Given the description of an element on the screen output the (x, y) to click on. 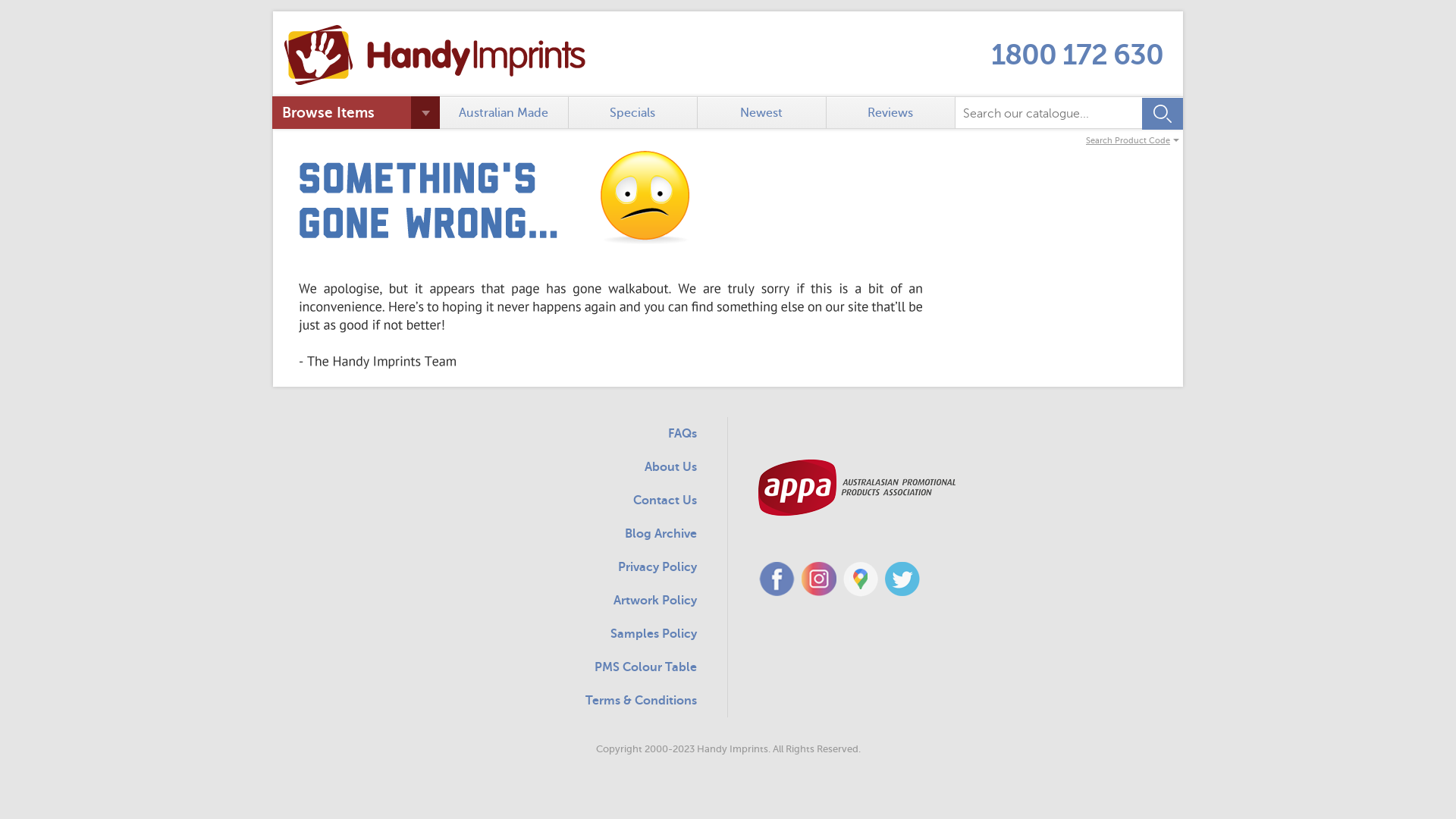
FAQs Element type: text (682, 433)
Blog Archive Element type: text (660, 533)
Terms & Conditions Element type: text (640, 700)
Samples Policy Element type: text (653, 633)
Newest Element type: text (761, 112)
Specials Element type: text (632, 112)
Artwork Policy Element type: text (654, 600)
Australian Made Element type: text (503, 112)
PMS Colour Table Element type: text (645, 667)
Privacy Policy Element type: text (657, 567)
Contact Us Element type: text (664, 500)
Search Element type: text (1162, 112)
About Us Element type: text (670, 467)
search Element type: hover (1047, 113)
Reviews Element type: text (890, 112)
